Given the description of an element on the screen output the (x, y) to click on. 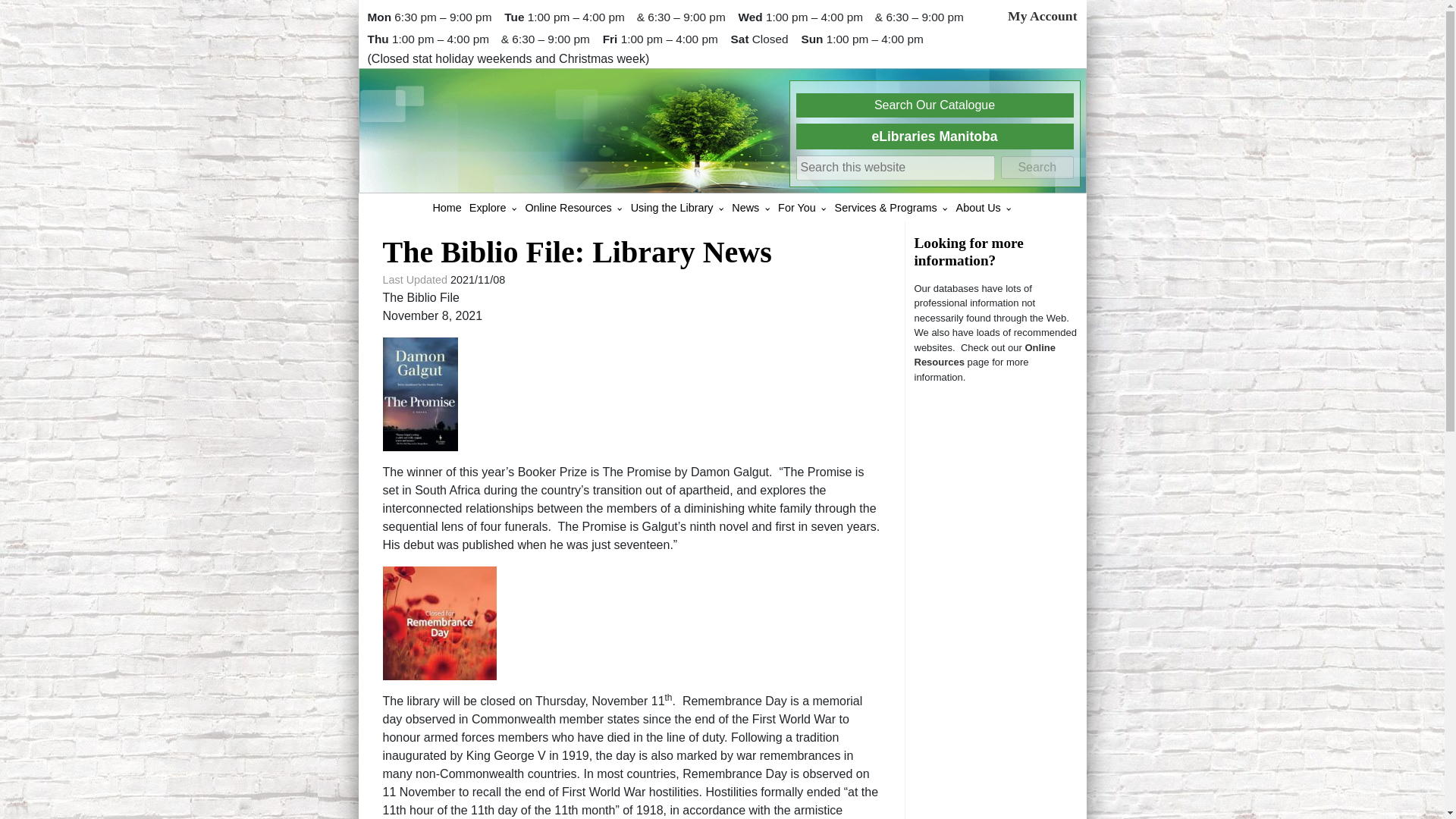
Tuesday (515, 16)
Wednesday (751, 16)
Sunday (812, 38)
Saturday (741, 38)
My Account (1042, 15)
Explore (488, 207)
Home (446, 207)
Search (1037, 167)
Research (984, 355)
Search Our Catalogue (934, 105)
Online Resources (567, 207)
Monday (380, 16)
Search (1037, 167)
Friday (611, 38)
Thursday (378, 38)
